Given the description of an element on the screen output the (x, y) to click on. 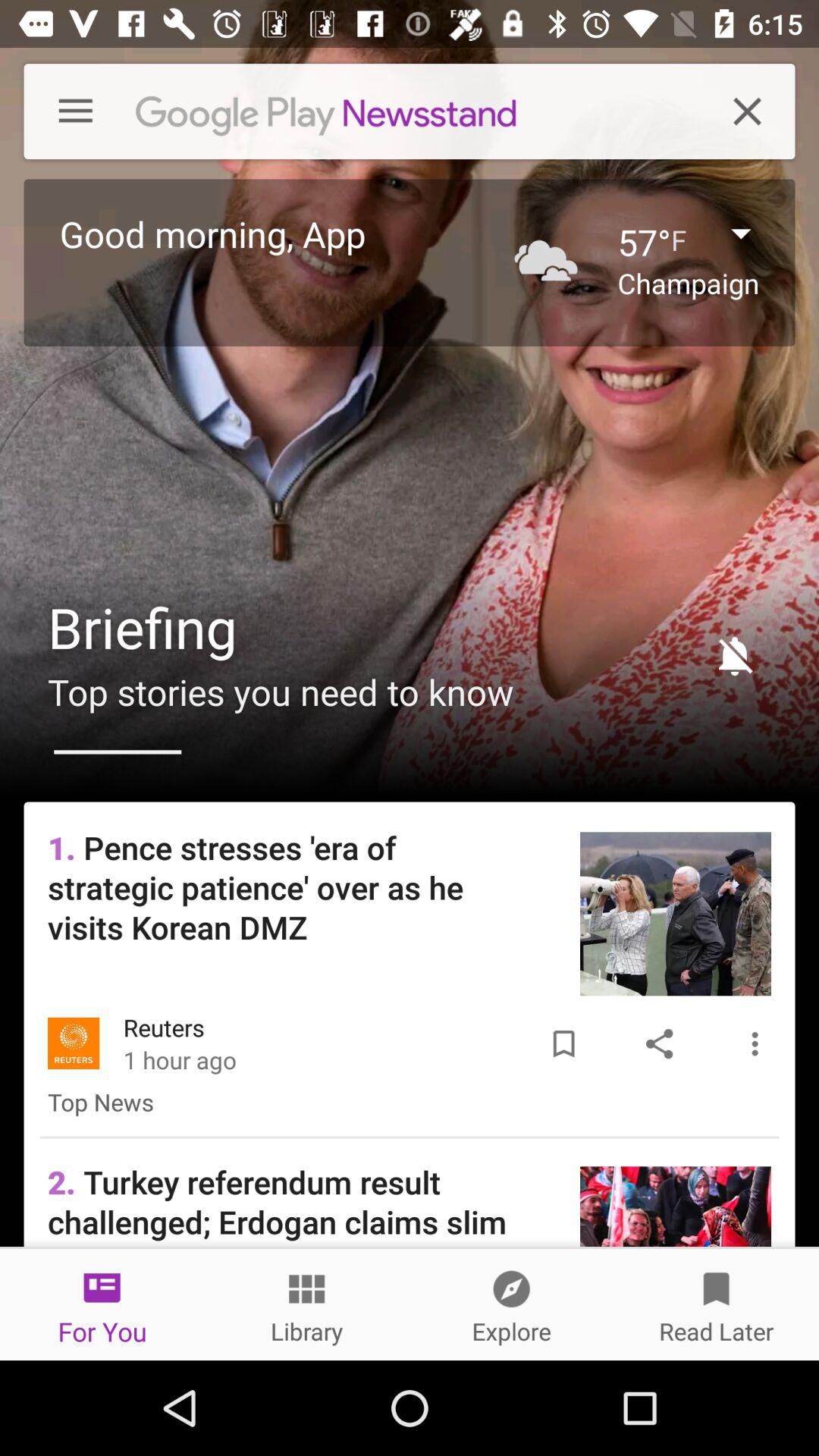
tap the item next to the reuters item (563, 1043)
